Given the description of an element on the screen output the (x, y) to click on. 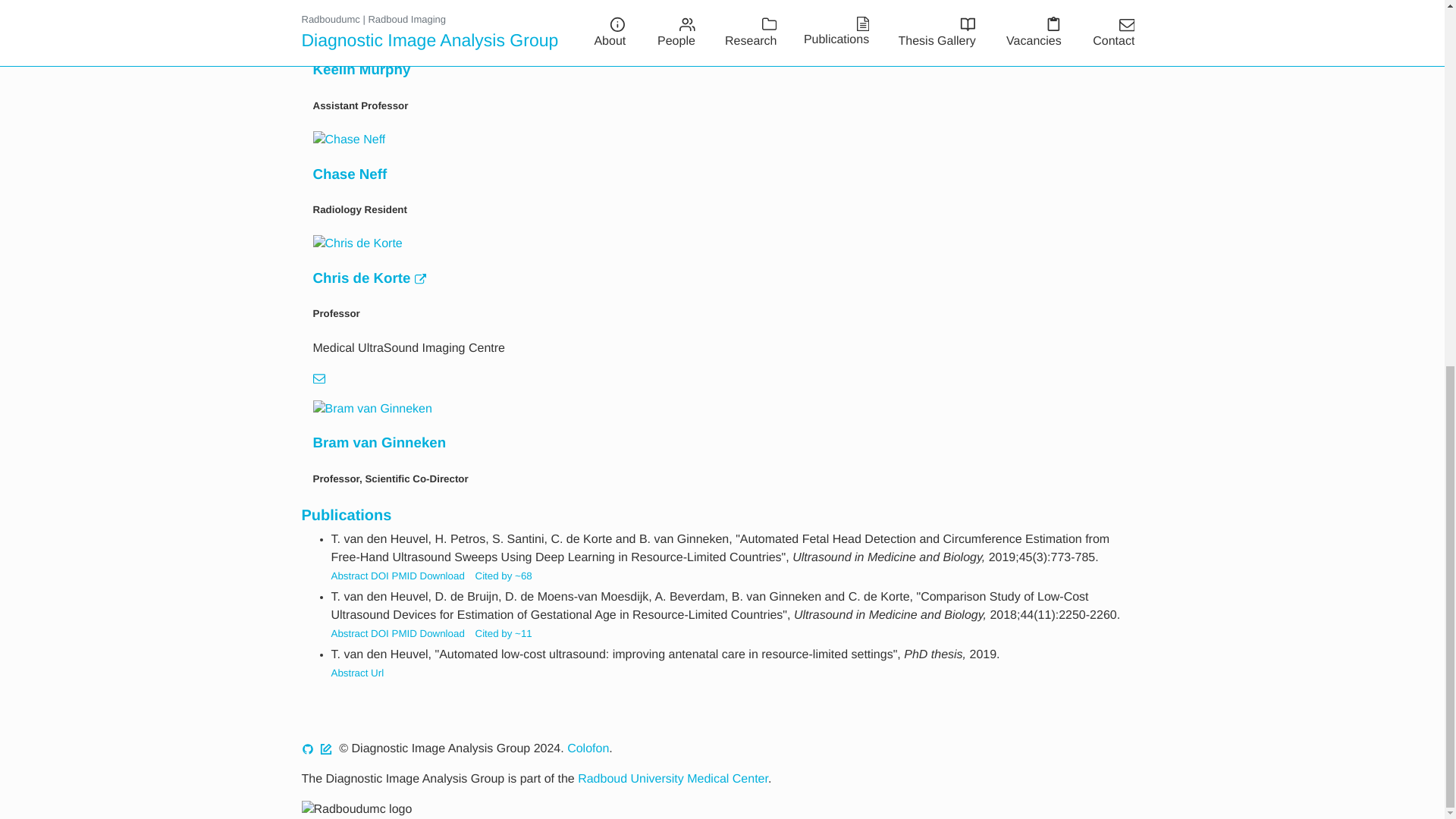
Edit on Github (325, 748)
Colofon (587, 748)
Url (377, 672)
DOI (379, 633)
Chris de Korte (369, 277)
DOI (379, 575)
Abstract (349, 575)
Abstract (349, 633)
Keelin Murphy (361, 68)
Our GitHub repository (307, 748)
